Given the description of an element on the screen output the (x, y) to click on. 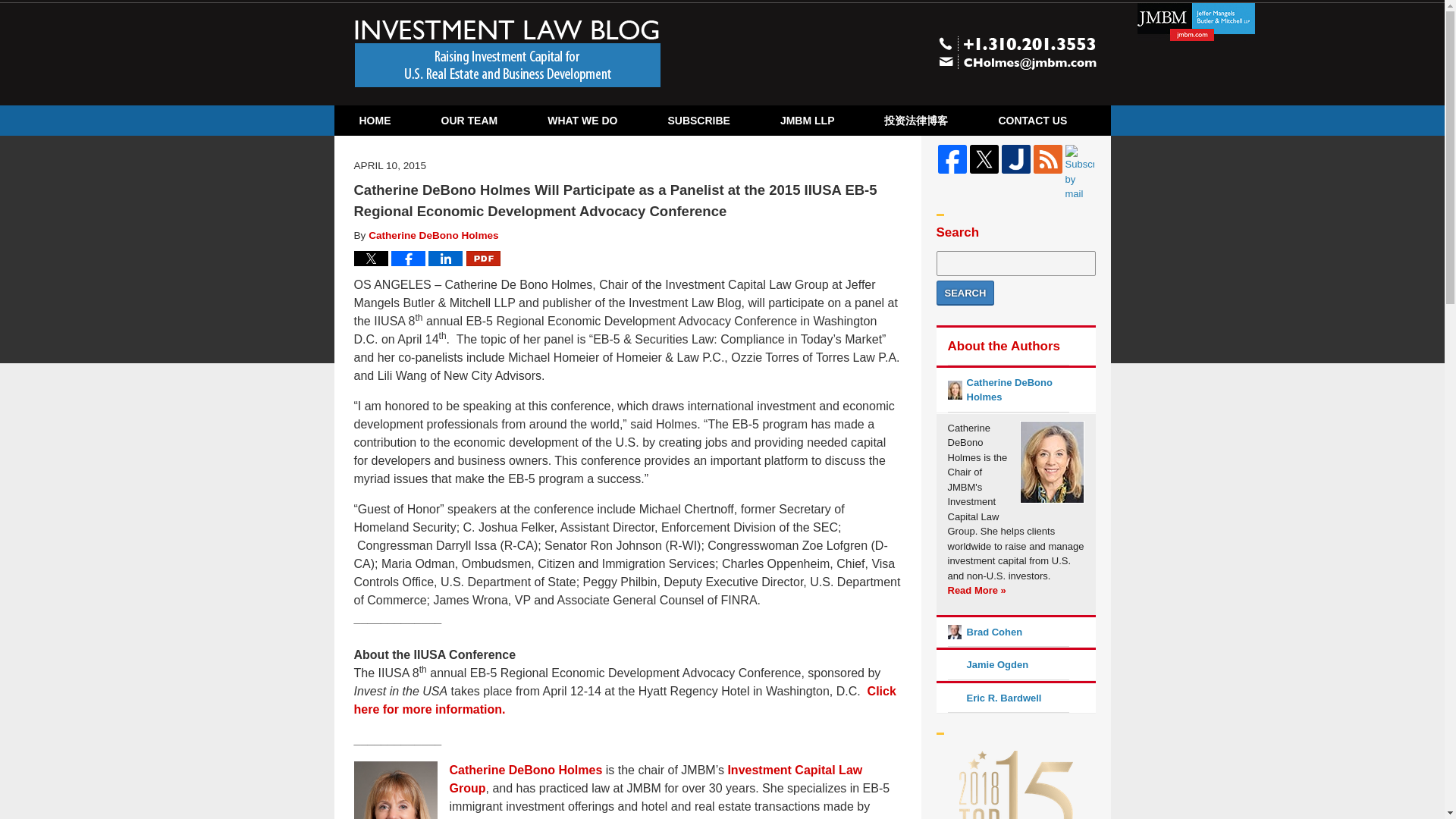
Catherine DeBono Holmes (525, 769)
CONTACT US (1032, 120)
Investment Law Blog (508, 53)
OUR TEAM (468, 120)
Justia (1014, 158)
JMBM LLP (807, 120)
WHAT WE DO (582, 120)
Investment Capital Law Group (654, 778)
Search (965, 292)
Catherine DeBono Holmes (525, 769)
SUBSCRIBE (698, 120)
Facebook (952, 158)
Investment Capital Law Group (654, 778)
Catherine DeBono Holmes (432, 235)
Twitter (983, 158)
